Given the description of an element on the screen output the (x, y) to click on. 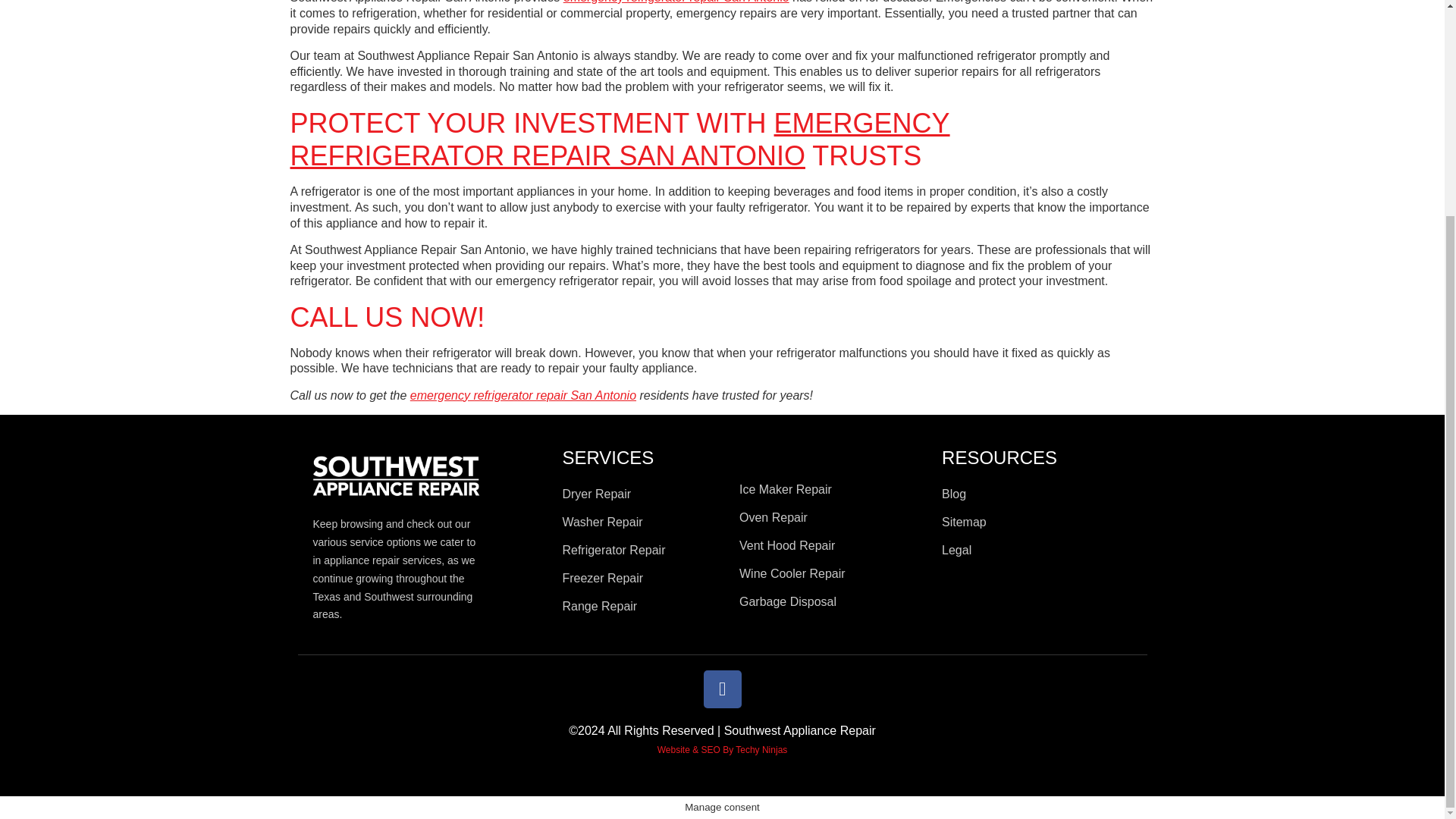
Range Repair (642, 606)
Freezer Repair (642, 578)
Dryer Repair (642, 494)
Washer Repair (642, 522)
Ice Maker Repair (832, 489)
Refrigerator Repair (642, 550)
emergency refrigerator repair San Antonio (523, 395)
EMERGENCY REFRIGERATOR REPAIR SAN ANTONIO (619, 139)
Oven Repair (832, 517)
Vent Hood Repair (832, 545)
